Given the description of an element on the screen output the (x, y) to click on. 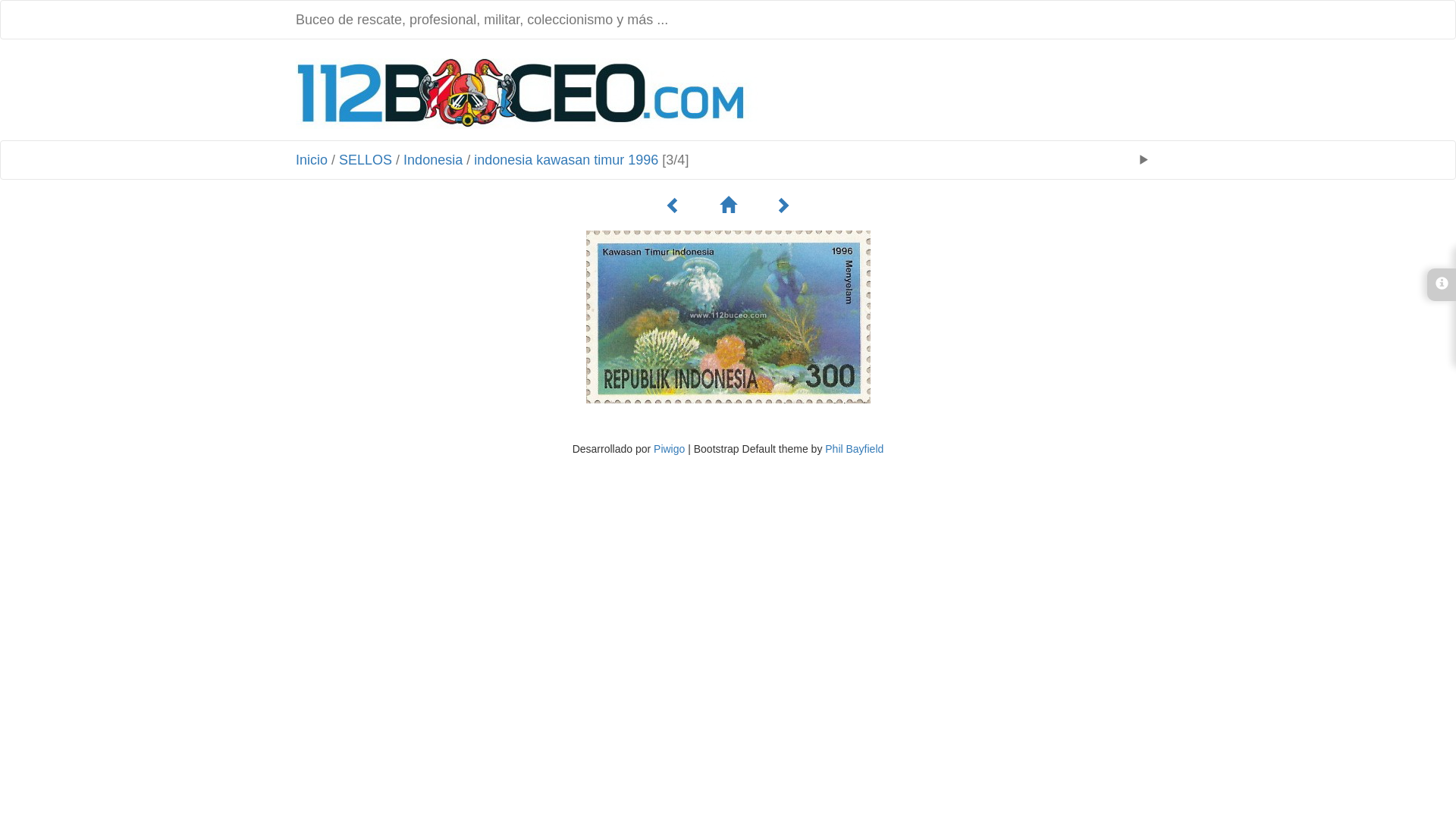
indonesia kawasan timur 1996 Element type: text (565, 159)
Slideshow Element type: hover (1143, 159)
SELLOS Element type: text (365, 159)
Siguiente : indonesia bunaken sulawesi utara Element type: hover (782, 206)
Indonesia Element type: text (432, 159)
Advertisement Element type: hover (961, 91)
Miniaturas Element type: hover (727, 206)
Inicio Element type: text (311, 159)
Anterior : indonesia hari bahari 1966 Element type: hover (673, 206)
Piwigo Element type: text (668, 448)
Phil Bayfield Element type: text (854, 448)
